Given the description of an element on the screen output the (x, y) to click on. 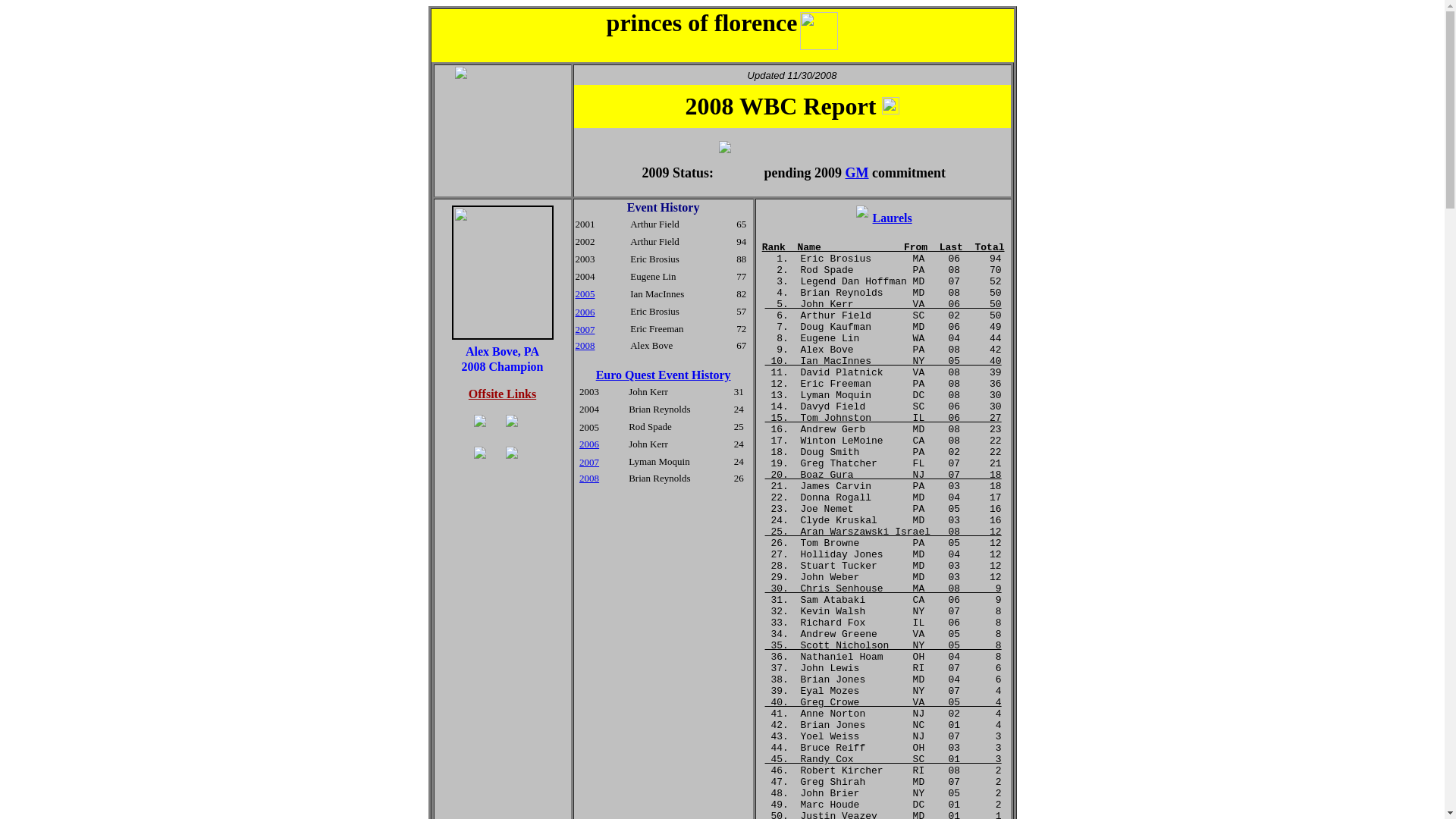
2005 (584, 293)
2006 (588, 443)
2006 (584, 311)
Laurels (892, 217)
2008 (588, 478)
2007 (584, 328)
2007 (588, 461)
2008 (584, 345)
Euro Quest Event History (662, 374)
GM (857, 172)
